Given the description of an element on the screen output the (x, y) to click on. 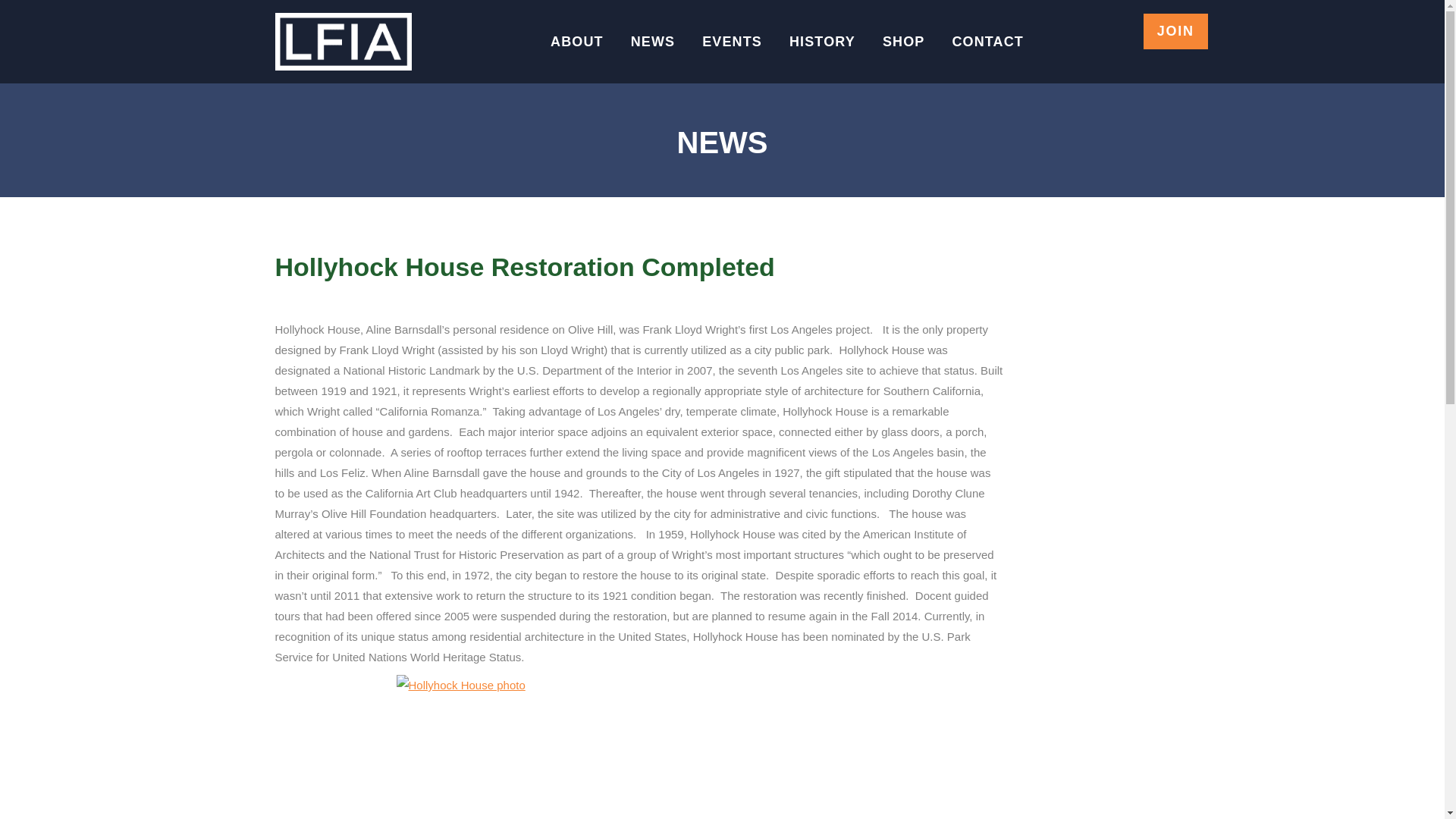
CONTACT (987, 41)
EVENTS (731, 41)
NEWS (652, 41)
JOIN (1175, 31)
HISTORY (822, 41)
ABOUT (577, 41)
